Given the description of an element on the screen output the (x, y) to click on. 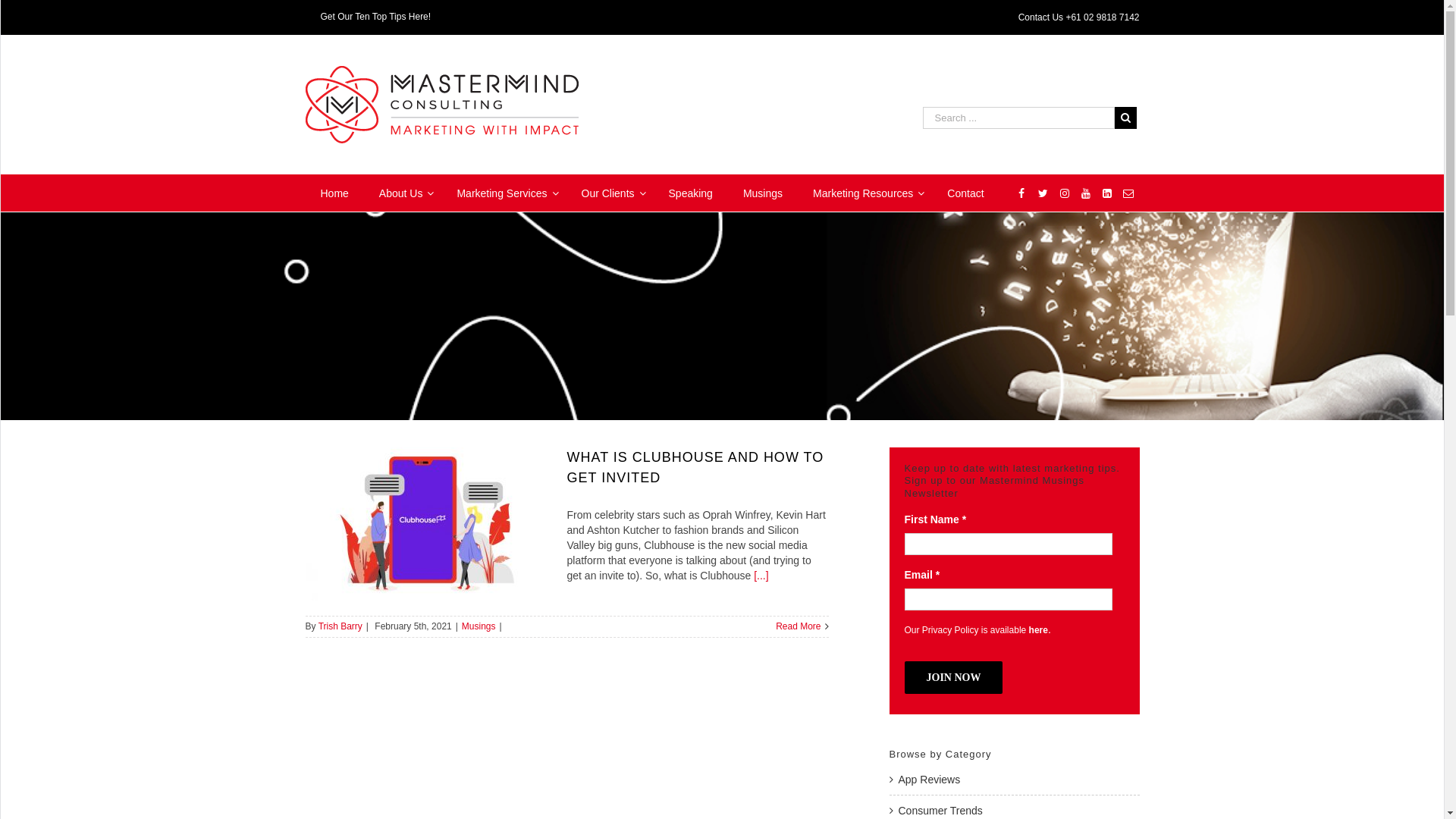
Contact Element type: text (964, 192)
Our Clients Element type: text (608, 192)
WHAT IS CLUBHOUSE AND HOW TO GET INVITED Element type: text (695, 467)
here Element type: text (1038, 629)
Get Our Ten Top Tips Here! Element type: text (374, 17)
Musings Element type: text (478, 626)
Consumer Trends Element type: text (939, 810)
Read More Element type: text (797, 626)
App Reviews Element type: text (928, 779)
+61 02 9818 7142 Element type: text (1102, 17)
Trish Barry Element type: text (340, 626)
About Us Element type: text (403, 192)
Marketing Resources Element type: text (864, 192)
[...] Element type: text (760, 575)
Speaking Element type: text (690, 192)
Home Element type: text (333, 192)
Marketing Services Element type: text (503, 192)
Join Now Element type: text (952, 677)
Musings Element type: text (762, 192)
